Given the description of an element on the screen output the (x, y) to click on. 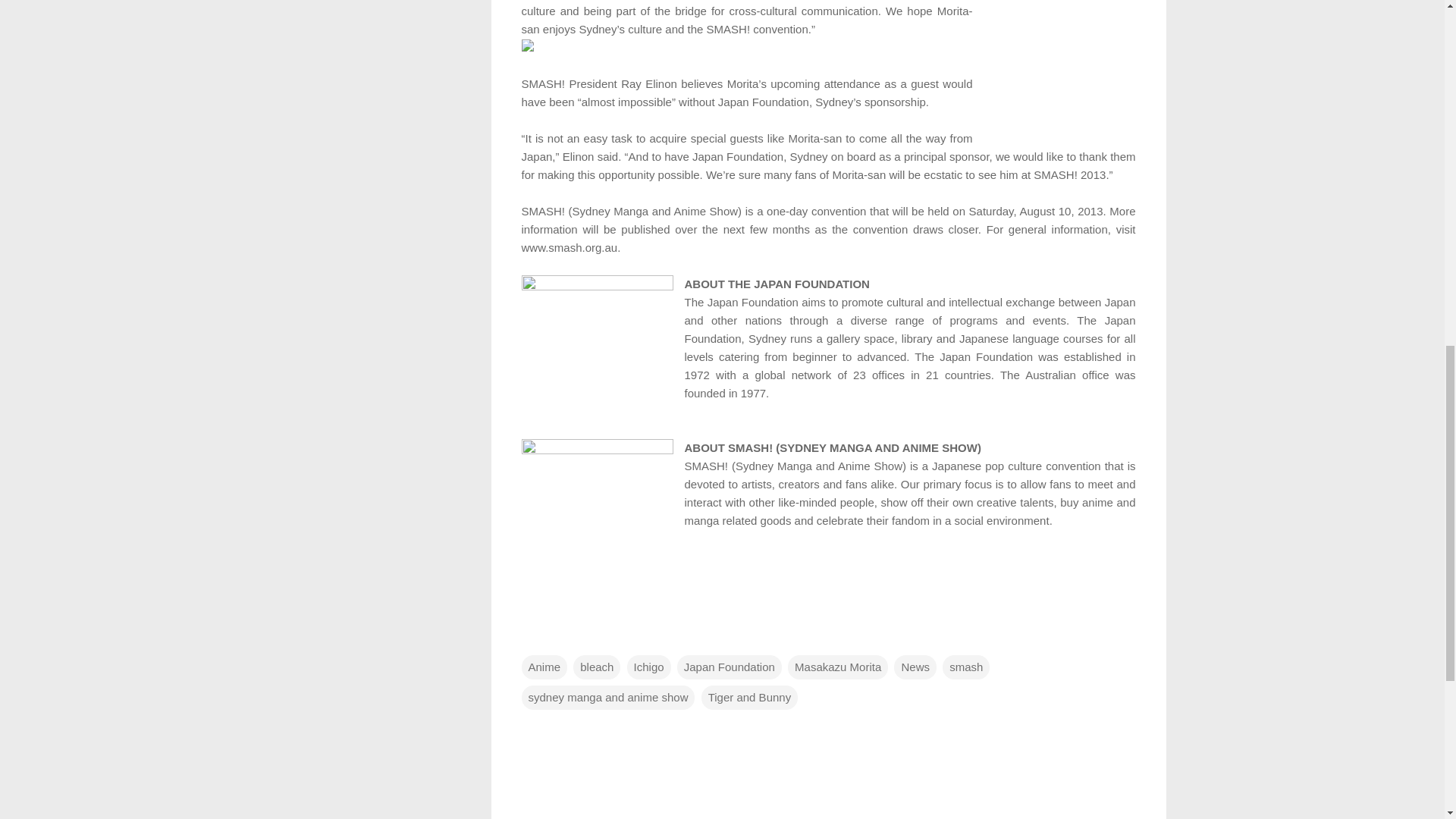
News (914, 667)
Anime (544, 667)
bleach (596, 667)
Email Post (530, 635)
sydney manga and anime show (608, 697)
Tiger and Bunny (749, 697)
Masakazu Morita (837, 667)
Ichigo (649, 667)
smash (966, 667)
Japan Foundation (729, 667)
